Given the description of an element on the screen output the (x, y) to click on. 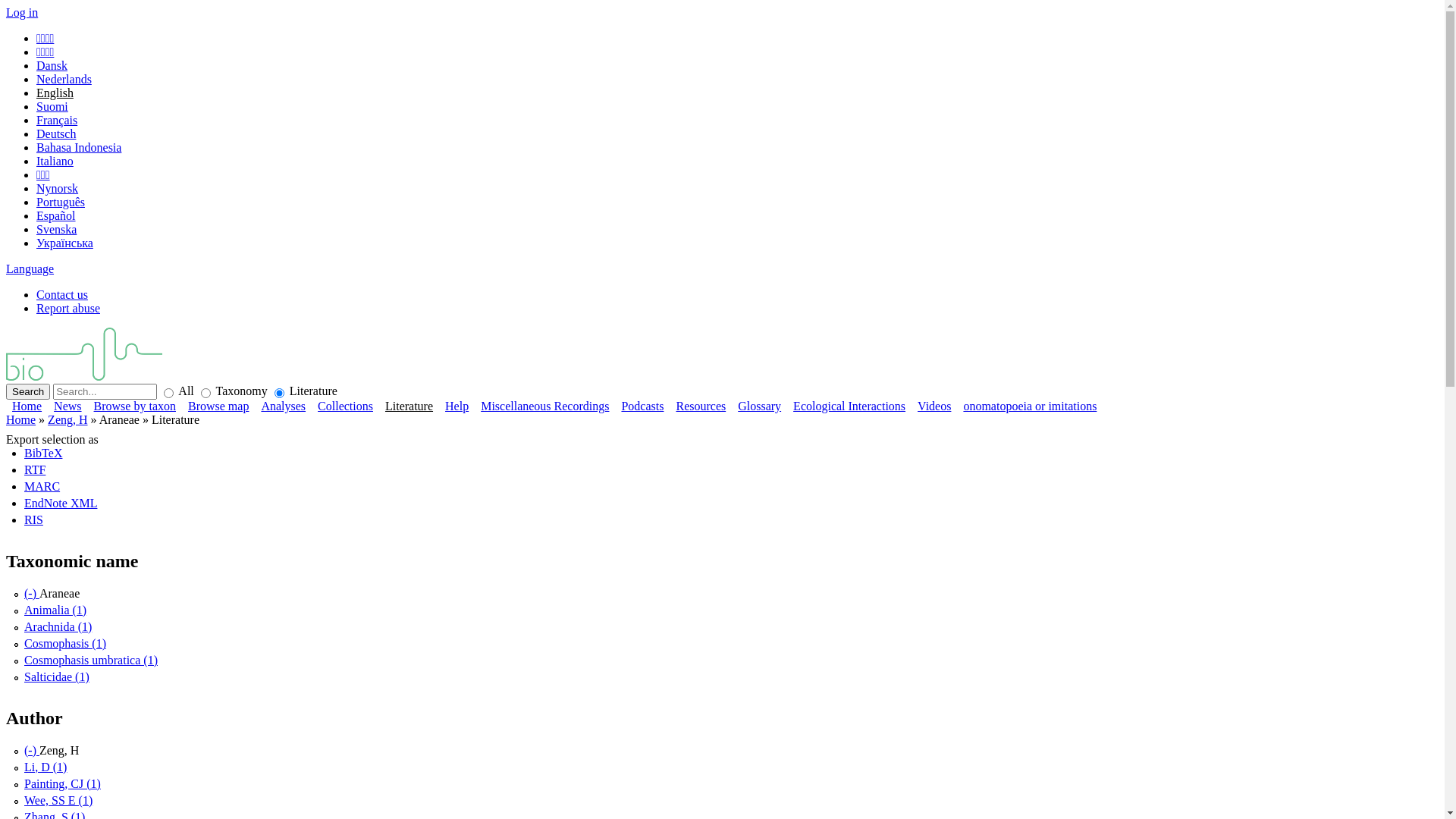
Salticidae (1)
Apply Salticidae filter Element type: text (56, 676)
Bahasa Indonesia Element type: text (78, 147)
(-)
Remove Zeng, H filter Element type: text (31, 749)
Help Element type: text (456, 405)
Videos Element type: text (933, 405)
Analyses Element type: text (282, 405)
EndNote XML Element type: text (60, 502)
Painting, CJ (1)
Apply Painting, CJ filter Element type: text (62, 783)
onomatopoeia or imitations Element type: text (1029, 405)
Li, D (1)
Apply Li, D filter Element type: text (45, 766)
Zeng, H Element type: text (67, 419)
Animalia (1)
Apply Animalia filter Element type: text (55, 609)
Ecological Interactions Element type: text (849, 405)
Search Element type: text (28, 391)
Italiano Element type: text (54, 160)
Browse map Element type: text (218, 405)
English Element type: text (54, 92)
News Element type: text (67, 405)
Resources Element type: text (700, 405)
MARC Element type: text (41, 486)
Home Element type: text (20, 419)
Dansk Element type: text (51, 65)
Nederlands Element type: text (63, 78)
Svenska Element type: text (56, 228)
Contact us Element type: text (61, 294)
Deutsch Element type: text (55, 133)
Browse by taxon Element type: text (134, 405)
Wee, SS E (1)
Apply Wee, SS E filter Element type: text (58, 799)
Cosmophasis (1)
Apply Cosmophasis filter Element type: text (65, 643)
Enter the terms you wish to search for. Element type: hover (104, 391)
Home Element type: text (26, 405)
Nynorsk Element type: text (57, 188)
Podcasts Element type: text (642, 405)
(-)
Remove Araneae filter Element type: text (31, 592)
Cosmophasis umbratica (1)
Apply Cosmophasis umbratica filter Element type: text (90, 659)
RIS Element type: text (33, 519)
Arachnida (1)
Apply Arachnida filter Element type: text (57, 626)
RTF Element type: text (34, 469)
BibTeX Element type: text (43, 452)
Literature Element type: text (409, 405)
Collections Element type: text (345, 405)
Report abuse Element type: text (68, 307)
Language Element type: text (29, 268)
Miscellaneous Recordings Element type: text (544, 405)
Log in Element type: text (21, 12)
Skip to main content Element type: text (56, 6)
Glossary Element type: text (759, 405)
Suomi Element type: text (52, 106)
